Given the description of an element on the screen output the (x, y) to click on. 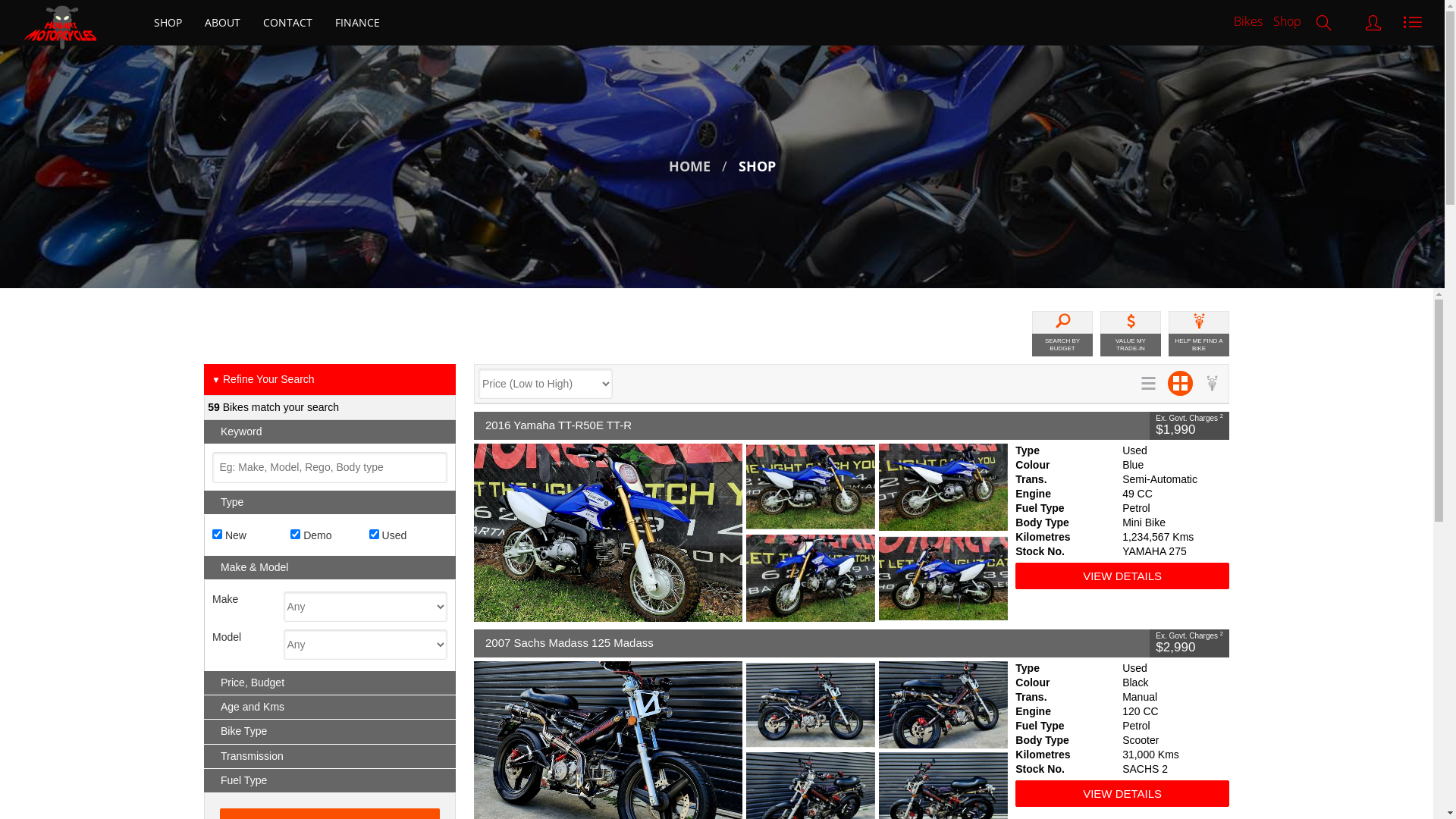
Bikes Element type: text (1248, 20)
FINANCE Element type: text (357, 22)
SHOP Element type: text (757, 166)
SHOP Element type: text (167, 22)
Shop Element type: text (1287, 20)
HOME Element type: text (689, 166)
CONTACT Element type: text (287, 22)
ABOUT Element type: text (222, 22)
Hobart Motorcycles Element type: hover (59, 20)
